Given the description of an element on the screen output the (x, y) to click on. 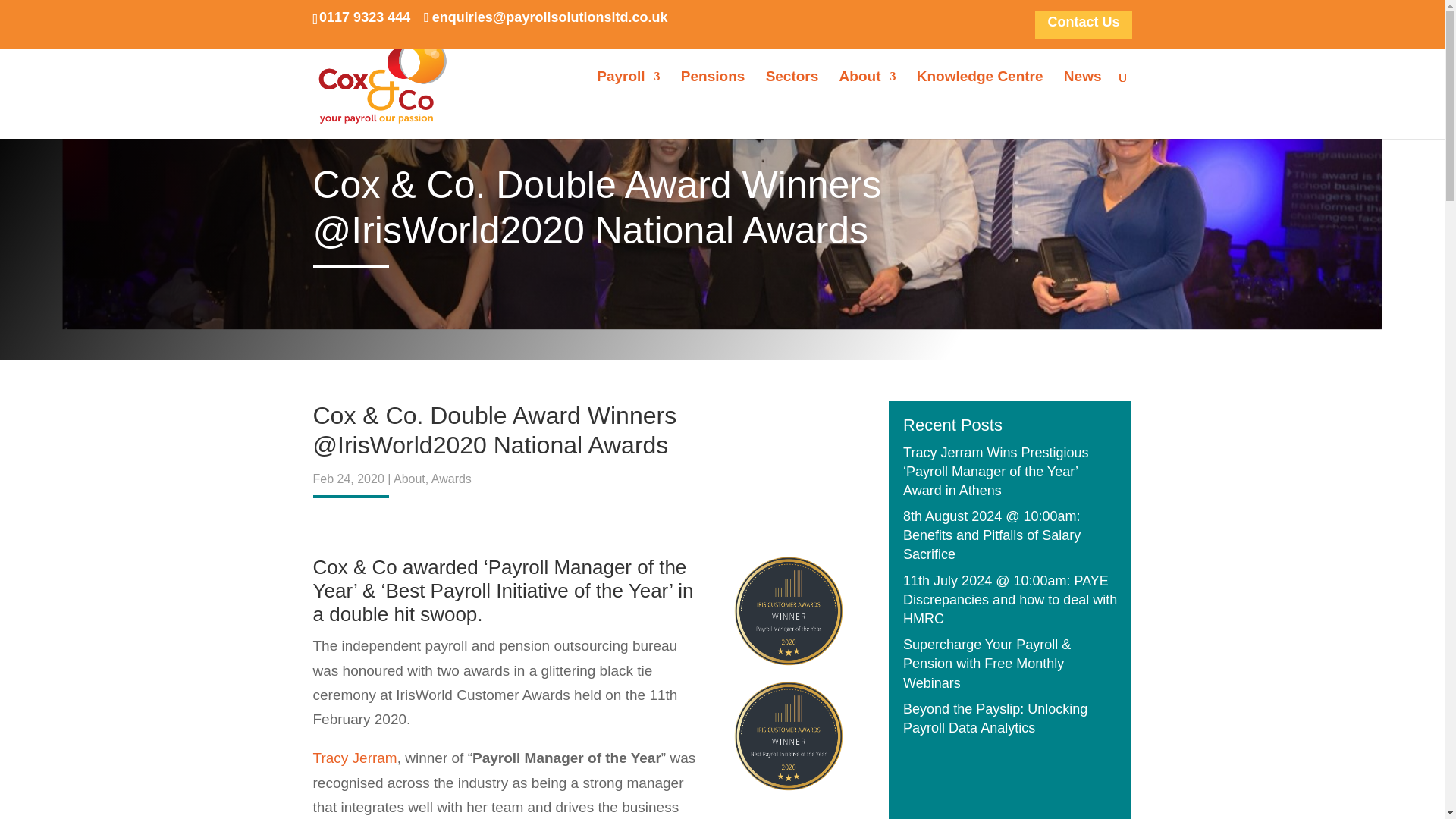
Knowledge Centre (980, 100)
Sectors (791, 100)
Pensions (712, 100)
Payroll (627, 100)
About (868, 100)
Contact Us (1082, 27)
